Given the description of an element on the screen output the (x, y) to click on. 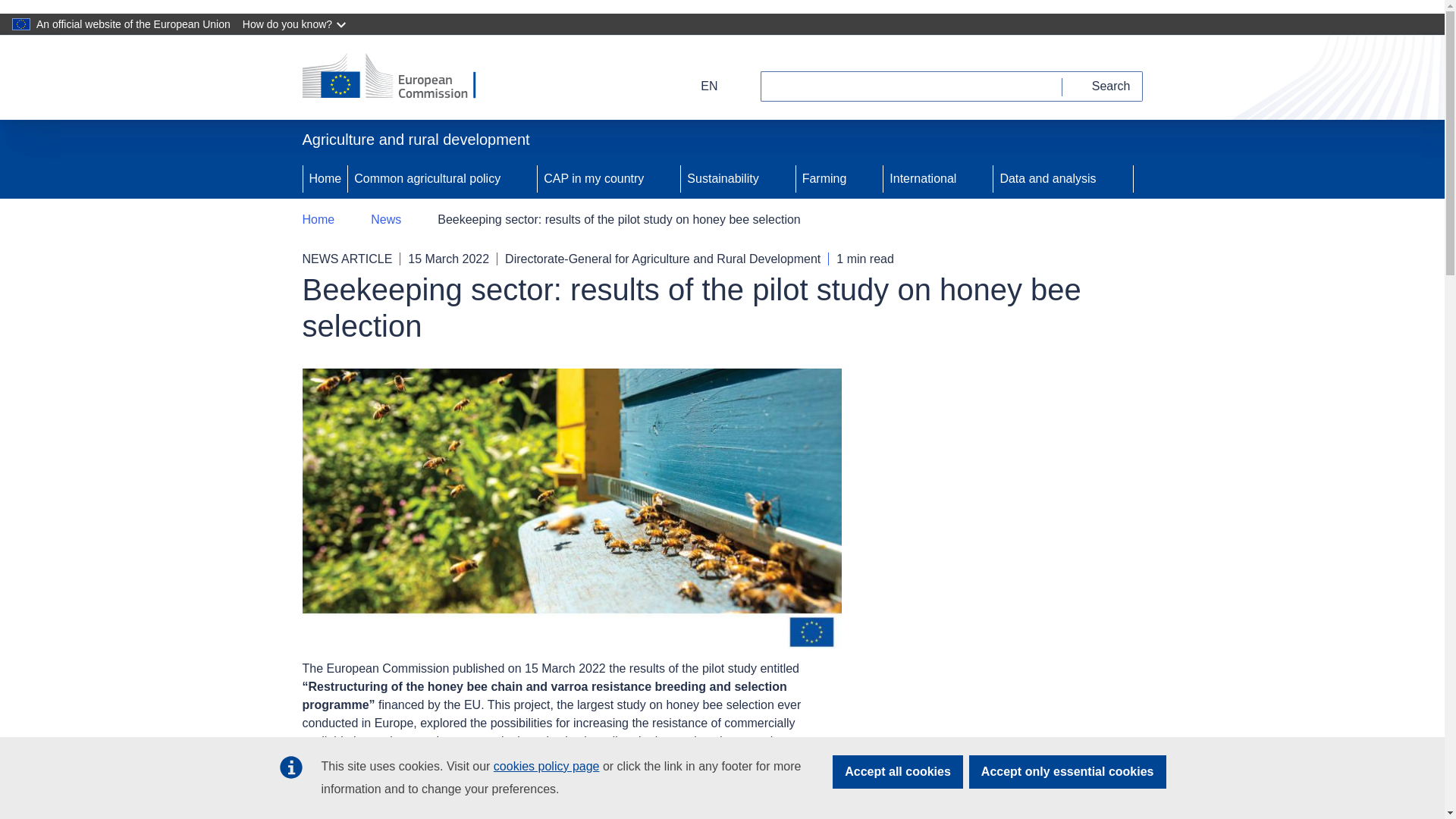
Accept only essential cookies (1067, 771)
How do you know? (295, 24)
Home (324, 178)
European Commission (399, 77)
Accept all cookies (897, 771)
Farming (823, 178)
CAP in my country (591, 178)
cookies policy page (546, 766)
Search (1102, 86)
Common agricultural policy (425, 178)
Sustainability (721, 178)
EN (699, 86)
